Given the description of an element on the screen output the (x, y) to click on. 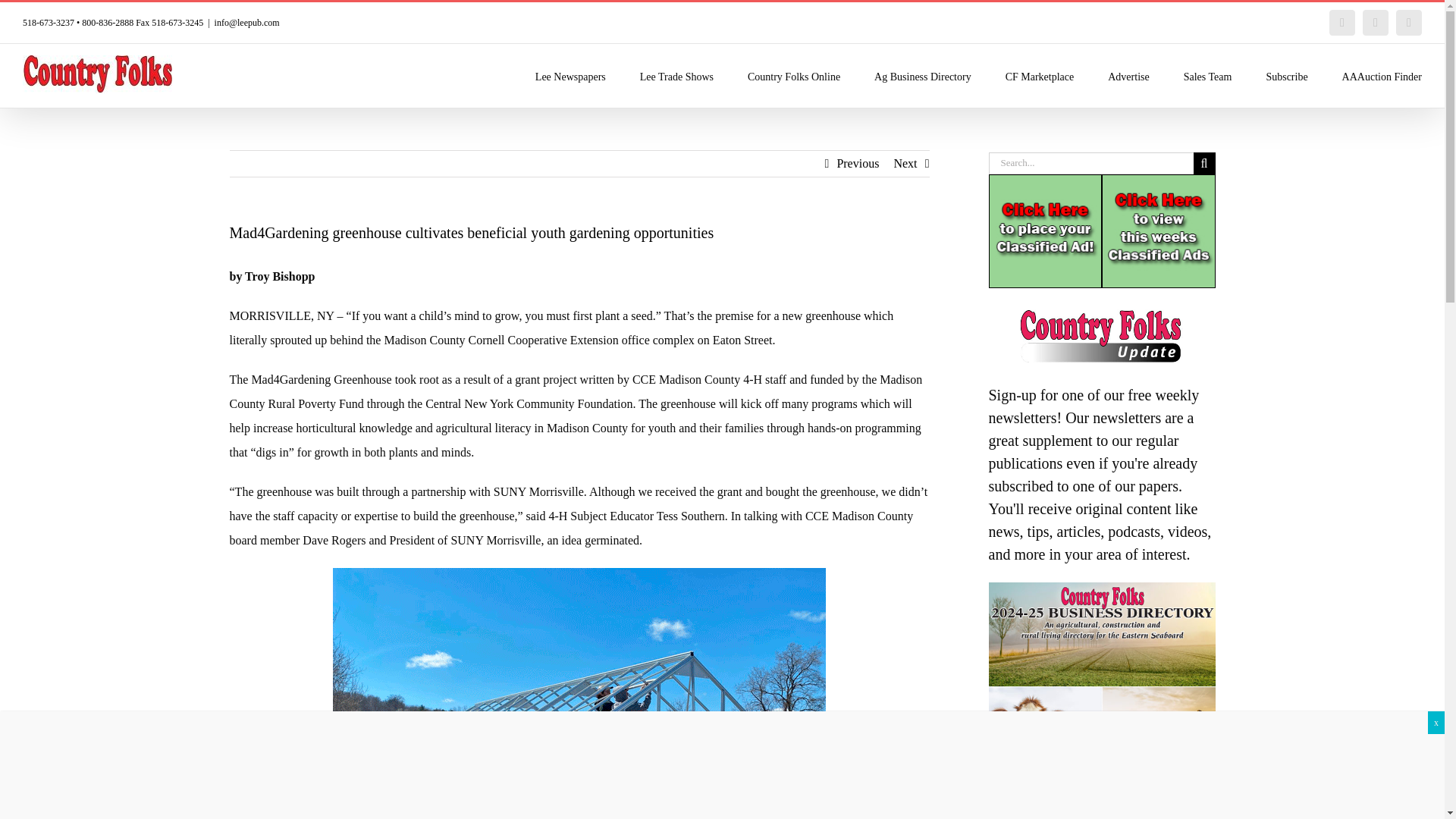
Twitter (1375, 22)
Facebook (1342, 22)
CF Marketplace (1040, 75)
Lee Newspapers (570, 75)
Country Folks Online (794, 75)
AAAuction Finder (1382, 75)
Ag Business Directory (923, 75)
Lee Trade Shows (676, 75)
Instagram (1409, 22)
